Given the description of an element on the screen output the (x, y) to click on. 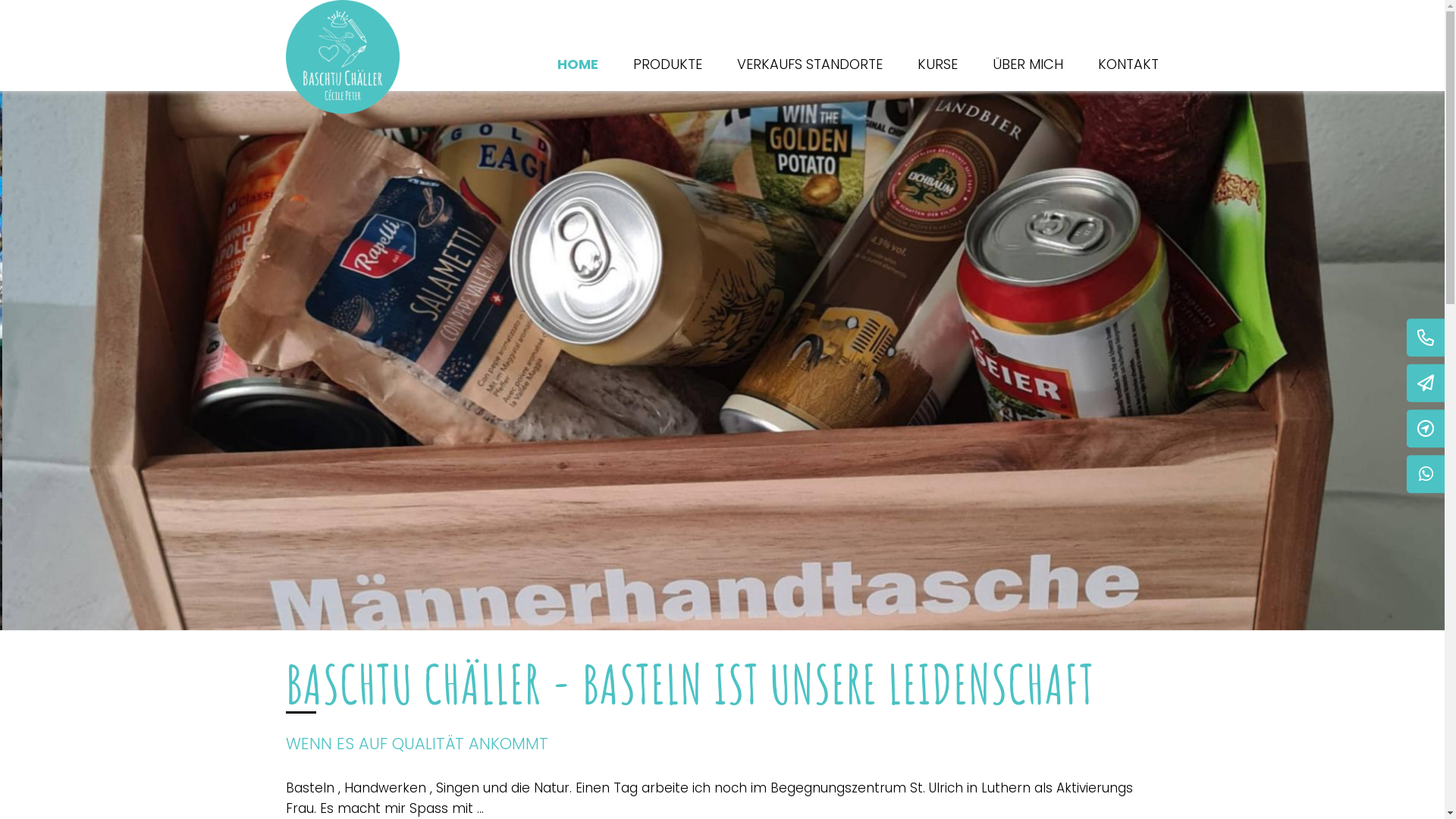
KURSE Element type: text (937, 63)
HOME Element type: text (576, 63)
KONTAKT Element type: text (1128, 63)
PRODUKTE Element type: text (666, 63)
VERKAUFS STANDORTE Element type: text (809, 63)
